Given the description of an element on the screen output the (x, y) to click on. 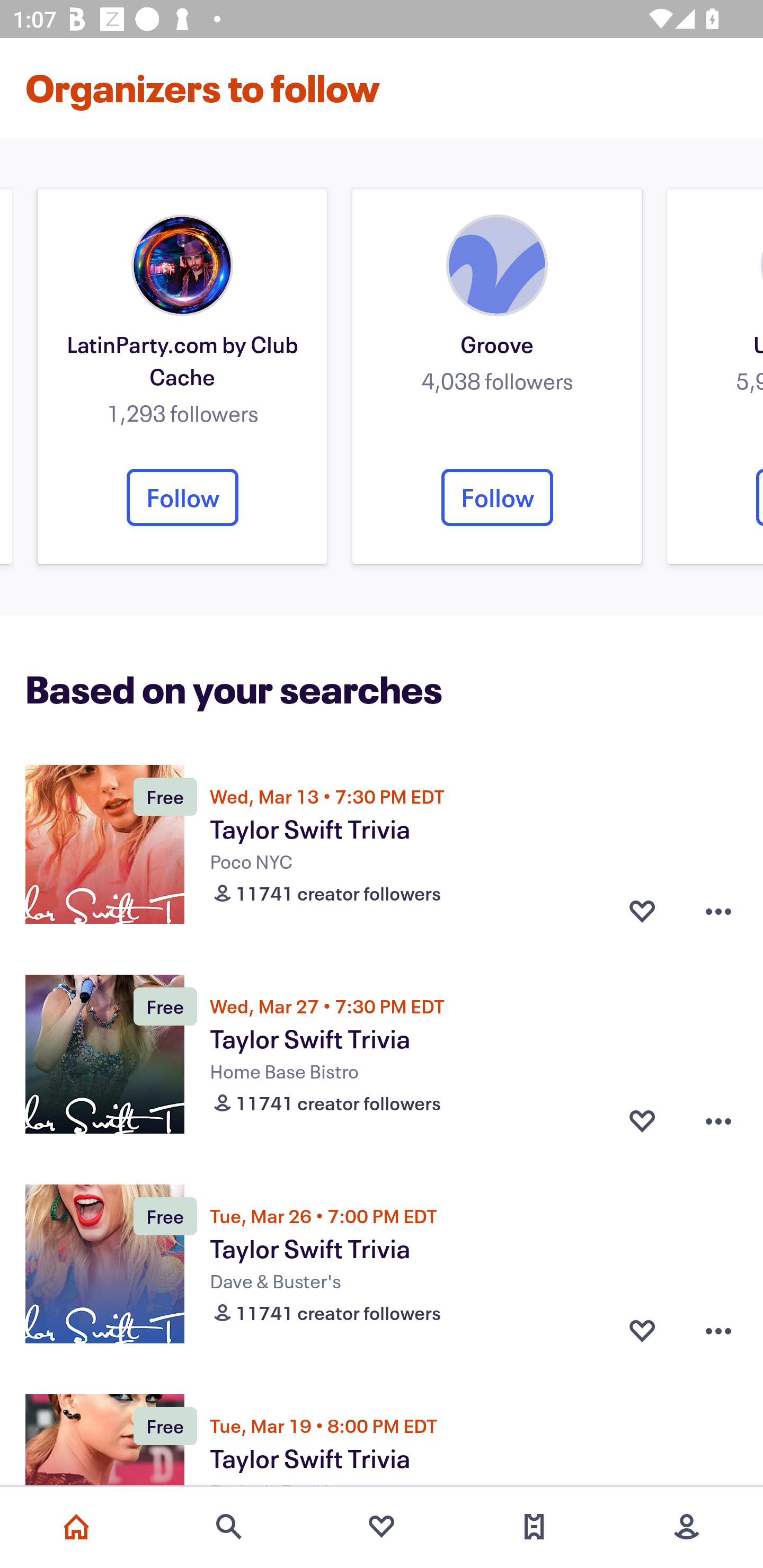
Follow Organizer's follow button (182, 496)
Follow Organizer's follow button (497, 496)
Favorite button (642, 910)
Overflow menu button (718, 910)
Favorite button (642, 1120)
Overflow menu button (718, 1120)
Favorite button (642, 1330)
Overflow menu button (718, 1330)
Home (76, 1526)
Search events (228, 1526)
Favorites (381, 1526)
Tickets (533, 1526)
More (686, 1526)
